Given the description of an element on the screen output the (x, y) to click on. 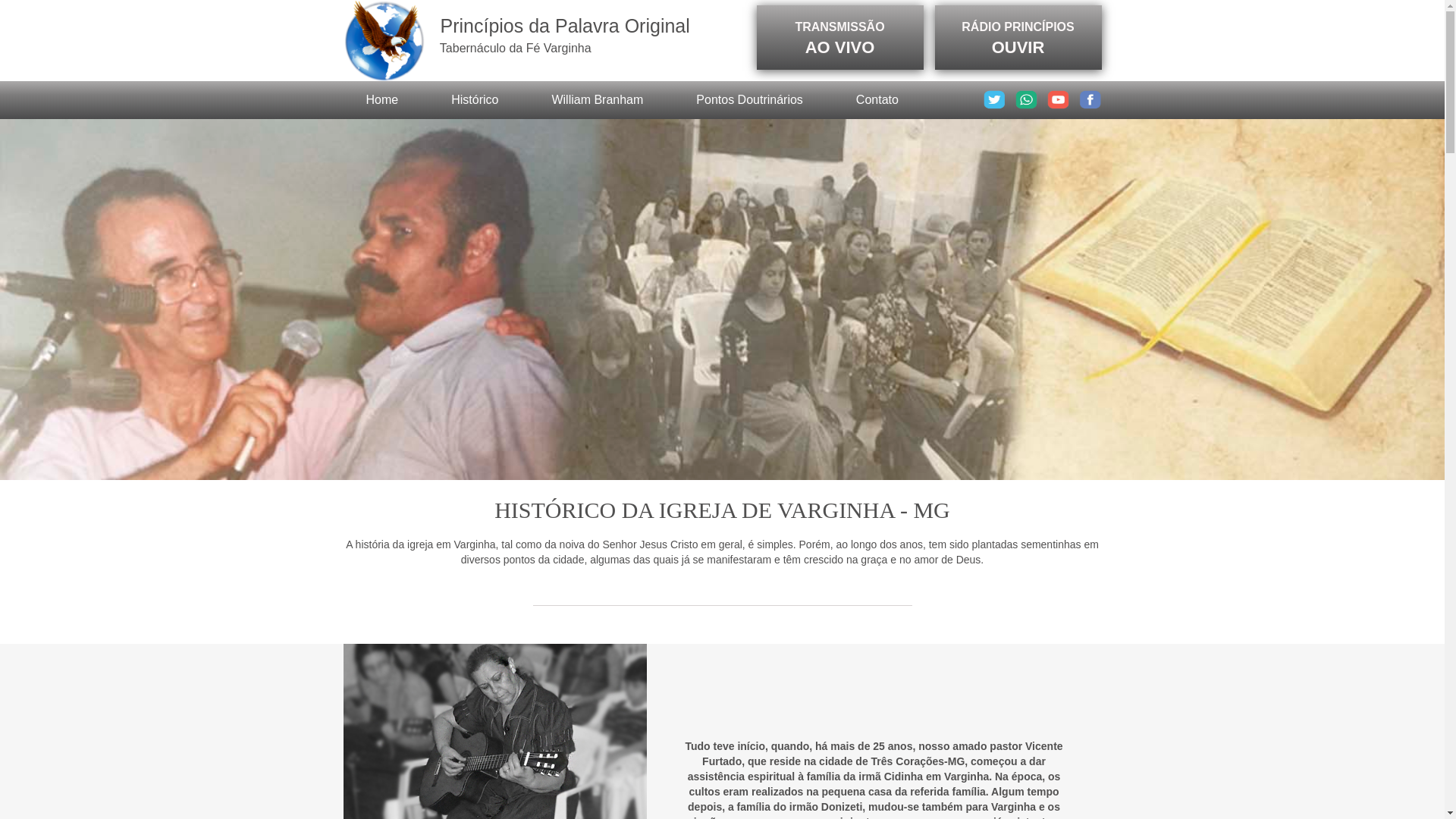
Clique aqui Element type: hover (1089, 104)
Clique aqui Element type: hover (1025, 104)
Clique aqui Element type: hover (993, 104)
William Branham Element type: text (596, 100)
Clique aqui Element type: hover (1057, 104)
Home Element type: text (381, 100)
Contato Element type: text (877, 100)
